Given the description of an element on the screen output the (x, y) to click on. 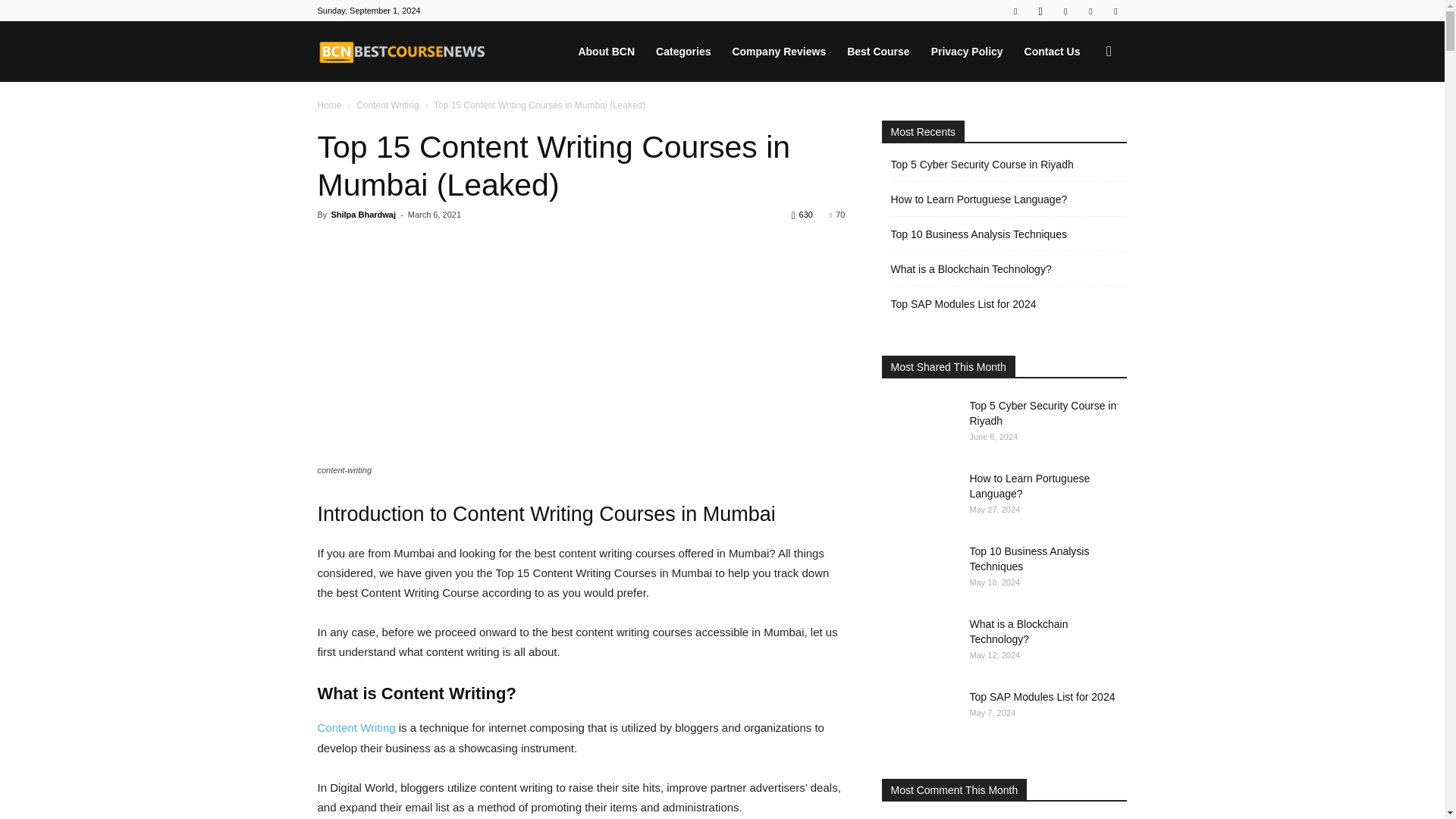
Linkedin (1065, 10)
Twitter (1090, 10)
Facebook (1015, 10)
Youtube (1114, 10)
Instagram (1040, 10)
